Given the description of an element on the screen output the (x, y) to click on. 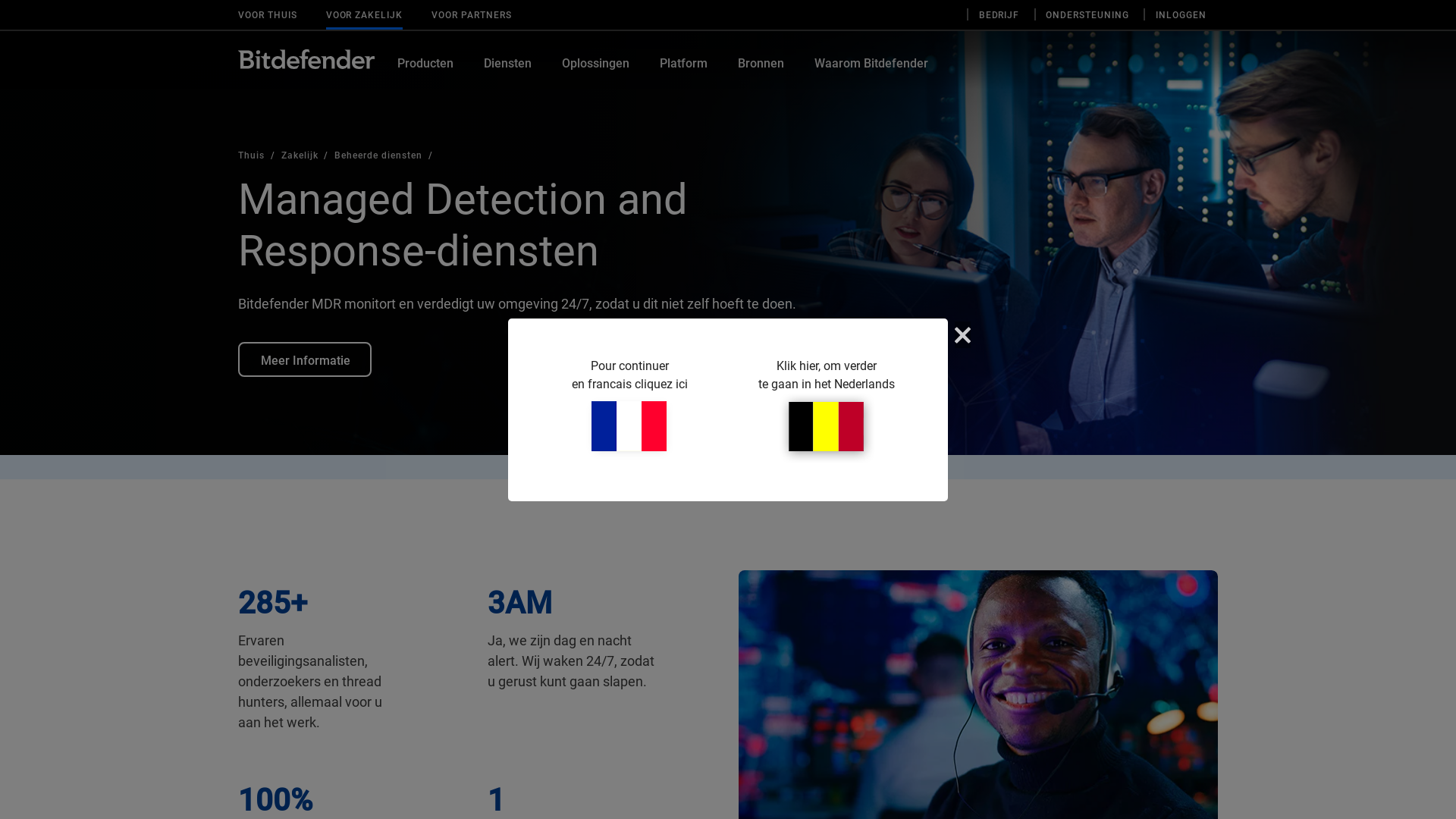
Bronnen Element type: text (760, 73)
VOOR ZAKELIJK Element type: text (364, 18)
Diensten Element type: text (507, 73)
Producten Element type: text (425, 73)
VOOR PARTNERS Element type: text (471, 18)
Oplossingen Element type: text (595, 73)
Beheerde diensten Element type: text (383, 154)
Meer Informatie Element type: text (304, 359)
Platform Element type: text (683, 73)
BEDRIJF Element type: text (999, 18)
Zakelijk Element type: text (308, 154)
Waarom Bitdefender Element type: text (871, 73)
ONDERSTEUNING Element type: text (1086, 18)
INLOGGEN Element type: text (1180, 18)
VOOR THUIS Element type: text (267, 18)
Thuis Element type: text (259, 154)
